Given the description of an element on the screen output the (x, y) to click on. 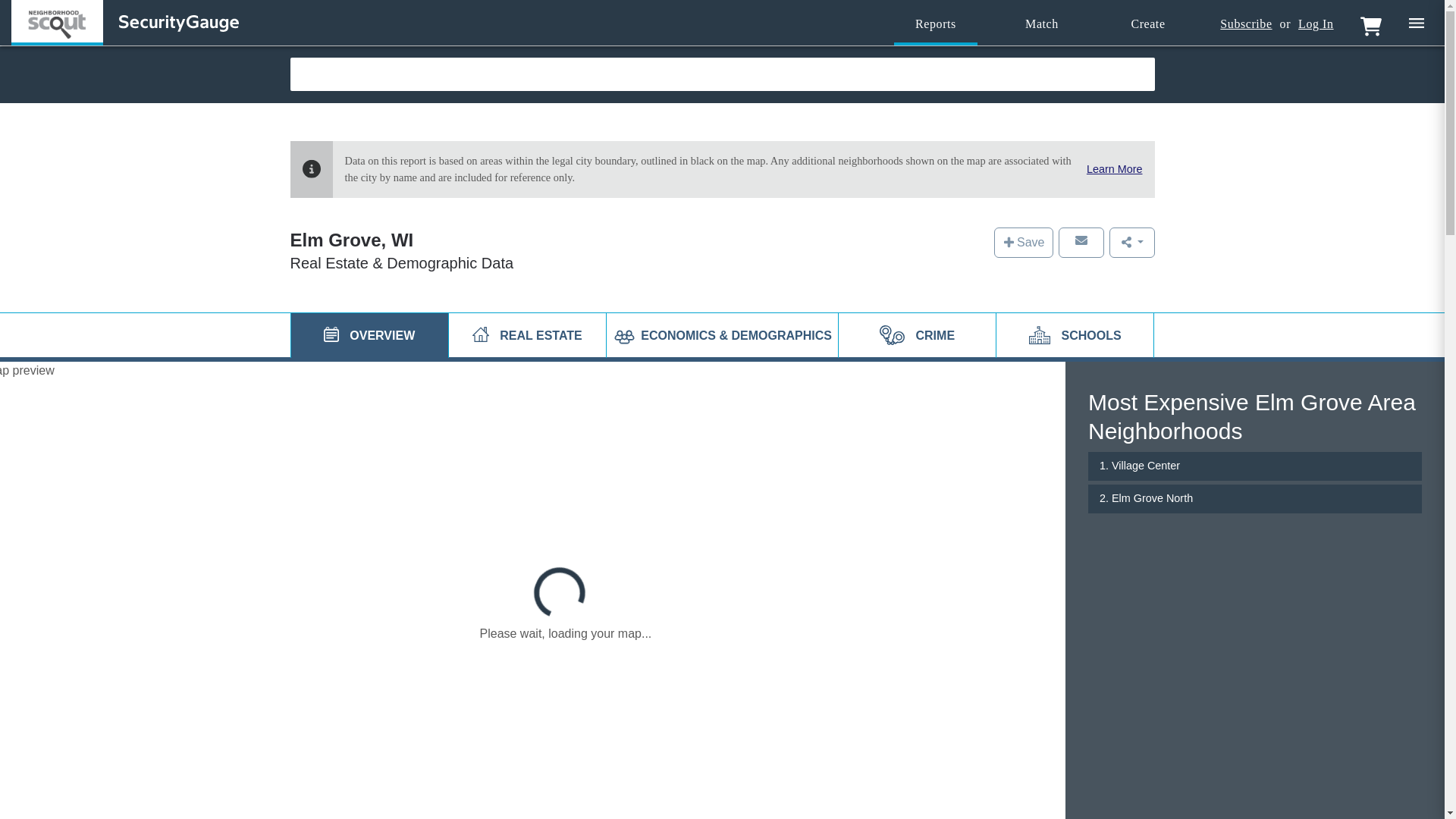
Create (1147, 24)
Log In (1315, 24)
Subscribe (1245, 24)
j (331, 334)
Reports (934, 24)
Match (1041, 24)
